Given the description of an element on the screen output the (x, y) to click on. 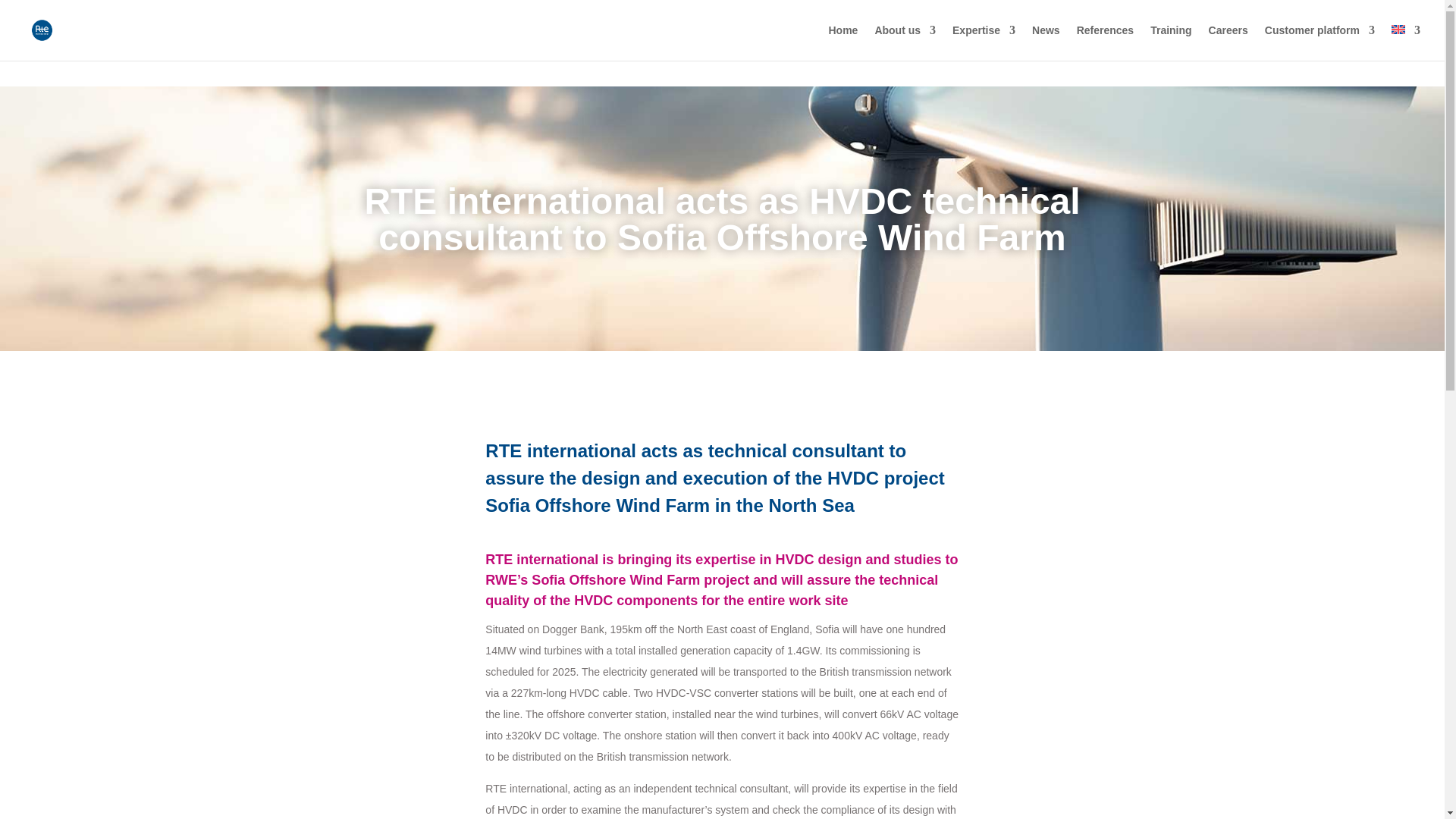
Expertise (983, 42)
References (1105, 42)
Careers (1227, 42)
Home (842, 42)
About us (905, 42)
Customer platform (1319, 42)
Training (1170, 42)
News (1045, 42)
